Given the description of an element on the screen output the (x, y) to click on. 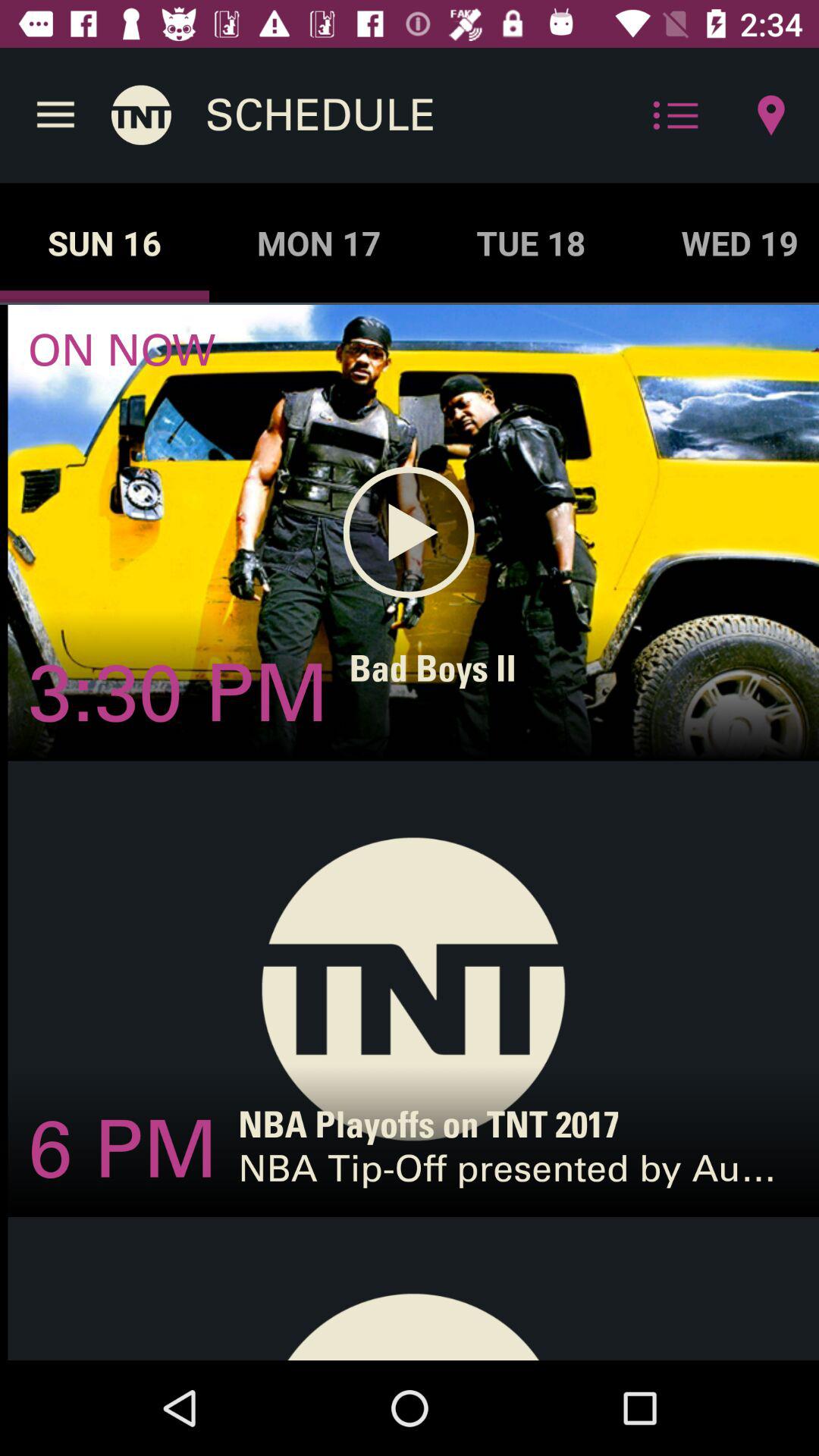
scroll until tue 18 item (530, 242)
